Given the description of an element on the screen output the (x, y) to click on. 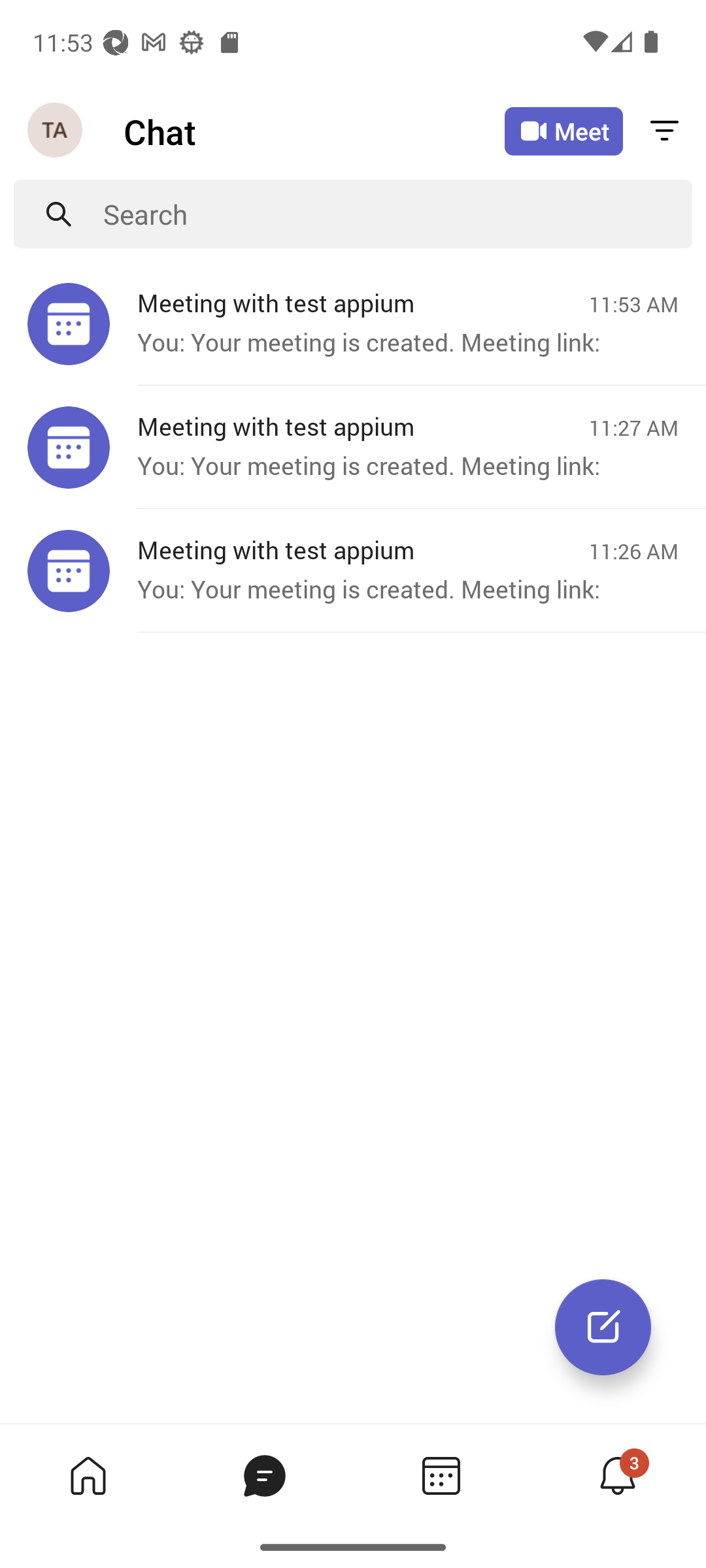
Filter chat messages (664, 131)
Navigation (56, 130)
Meet Meet now or join with an ID (563, 130)
Search (397, 213)
New chat (602, 1327)
Home tab,1 of 4, not selected (88, 1475)
Chat tab, 2 of 4 (264, 1475)
Calendar tab,3 of 4, not selected (441, 1475)
Activity tab,4 of 4, not selected, 3 new 3 (617, 1475)
